Given the description of an element on the screen output the (x, y) to click on. 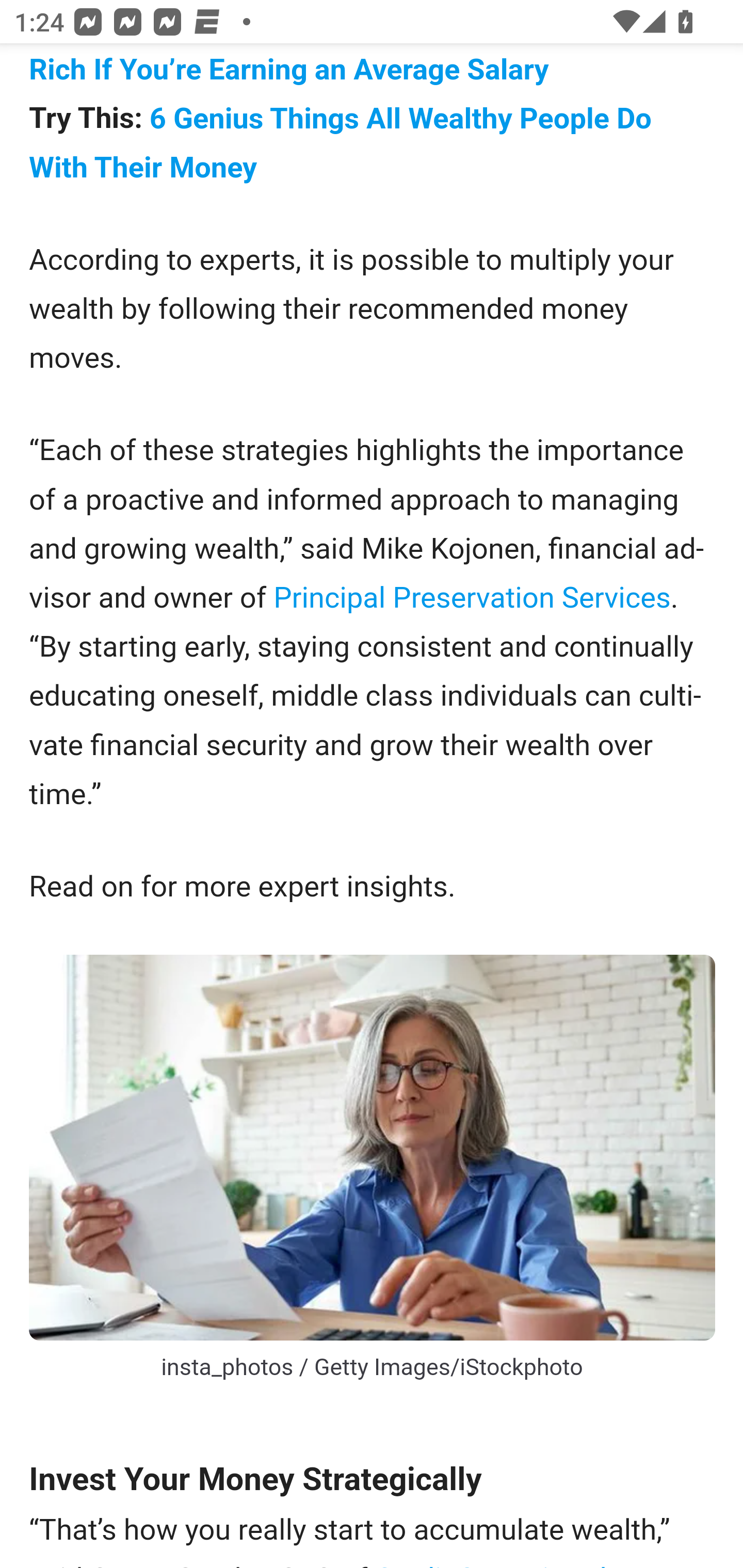
Principal Preservation Services (471, 598)
